Given the description of an element on the screen output the (x, y) to click on. 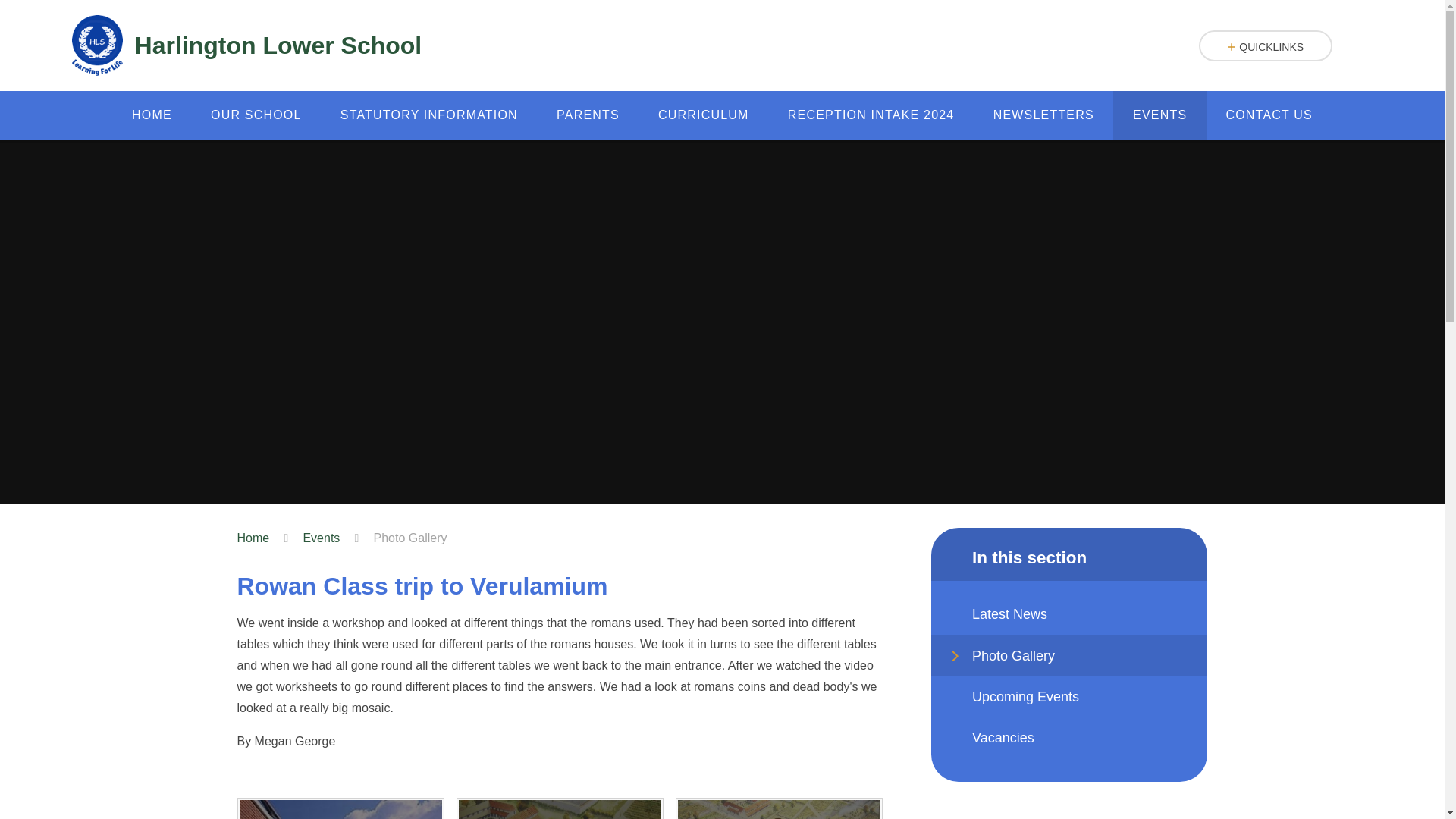
Harlington Lower School (246, 45)
HOME (151, 114)
OUR SCHOOL (255, 114)
STATUTORY INFORMATION (428, 114)
